Given the description of an element on the screen output the (x, y) to click on. 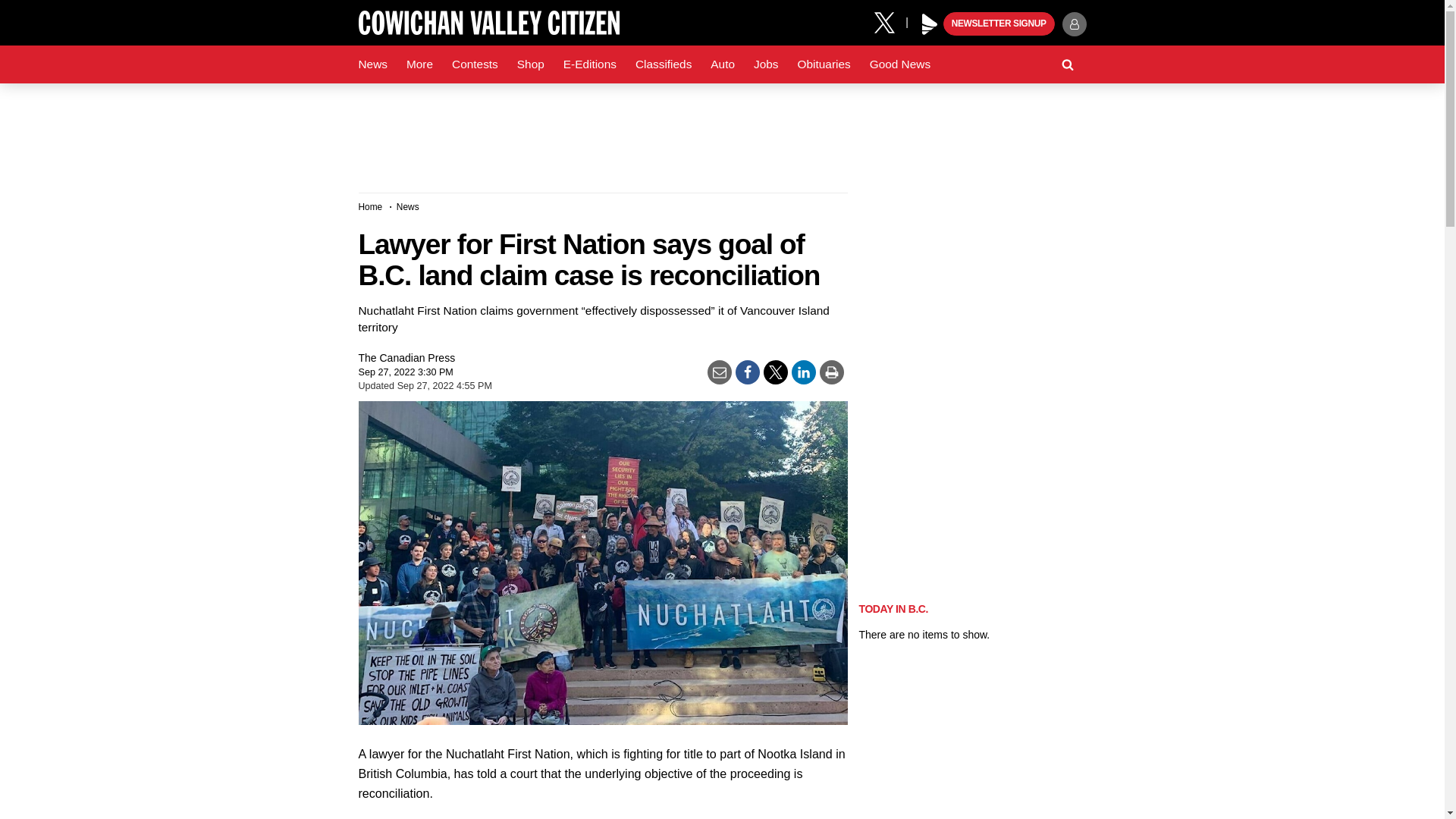
Black Press Media (929, 24)
News (372, 64)
X (889, 21)
Play (929, 24)
NEWSLETTER SIGNUP (998, 24)
